Given the description of an element on the screen output the (x, y) to click on. 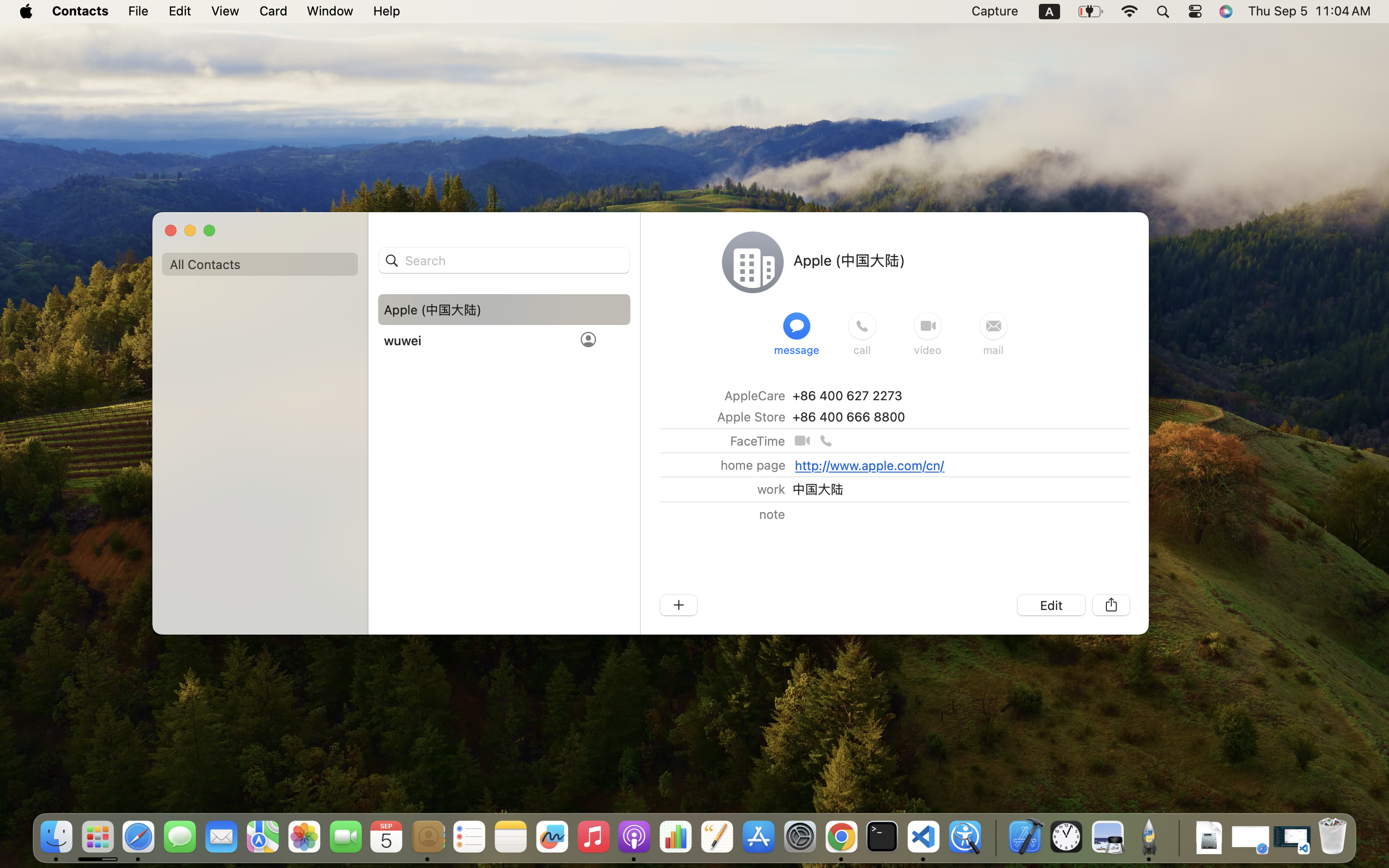
Apple Store Element type: AXStaticText (750, 416)
中国大陆 Element type: AXStaticText (816, 488)
‭+86 400 627 2273‬ Element type: AXStaticText (846, 395)
AppleCare Element type: AXStaticText (754, 395)
